Given the description of an element on the screen output the (x, y) to click on. 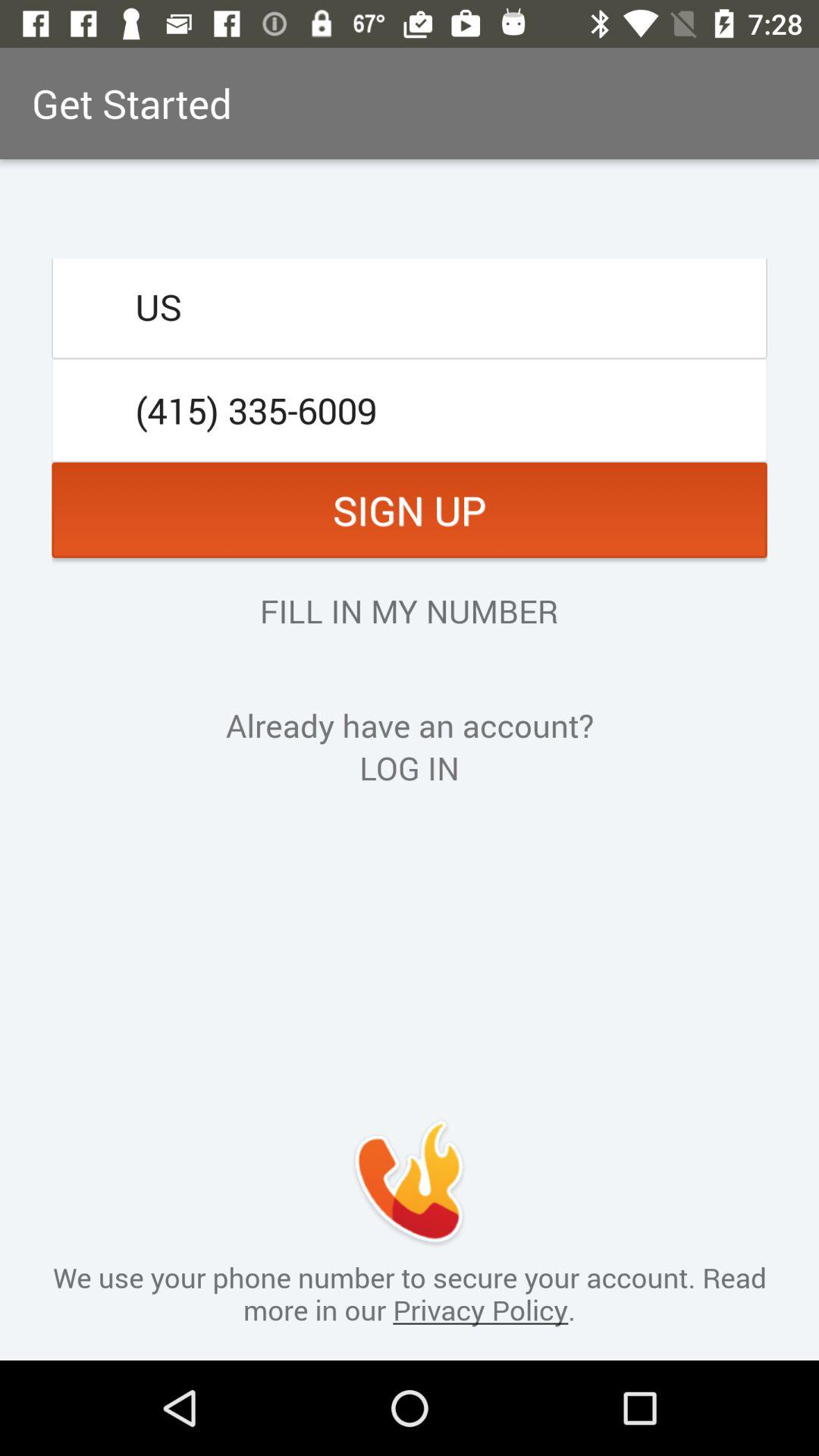
turn on the item above the sign up icon (409, 410)
